Given the description of an element on the screen output the (x, y) to click on. 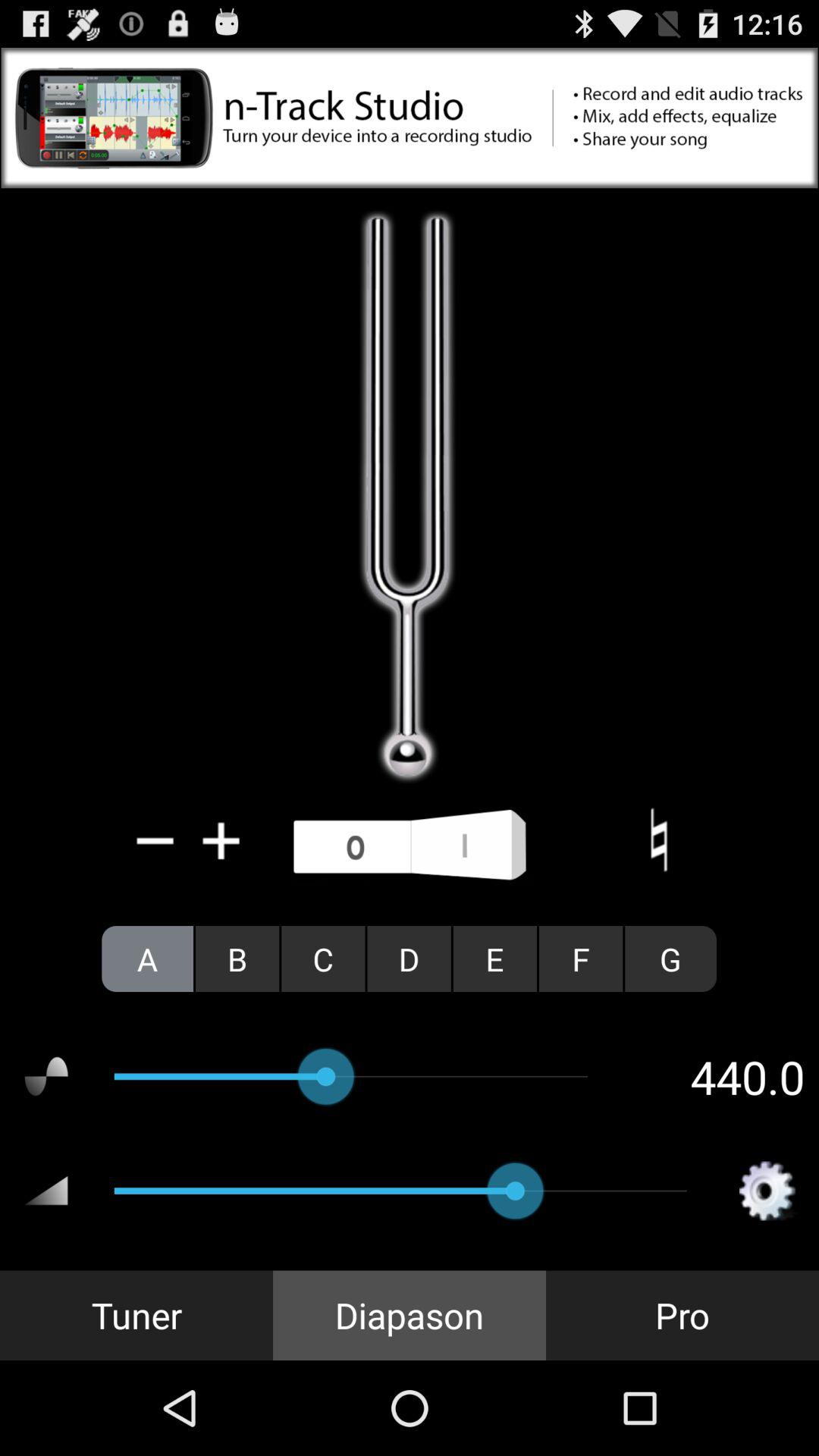
zoom out (155, 840)
